Given the description of an element on the screen output the (x, y) to click on. 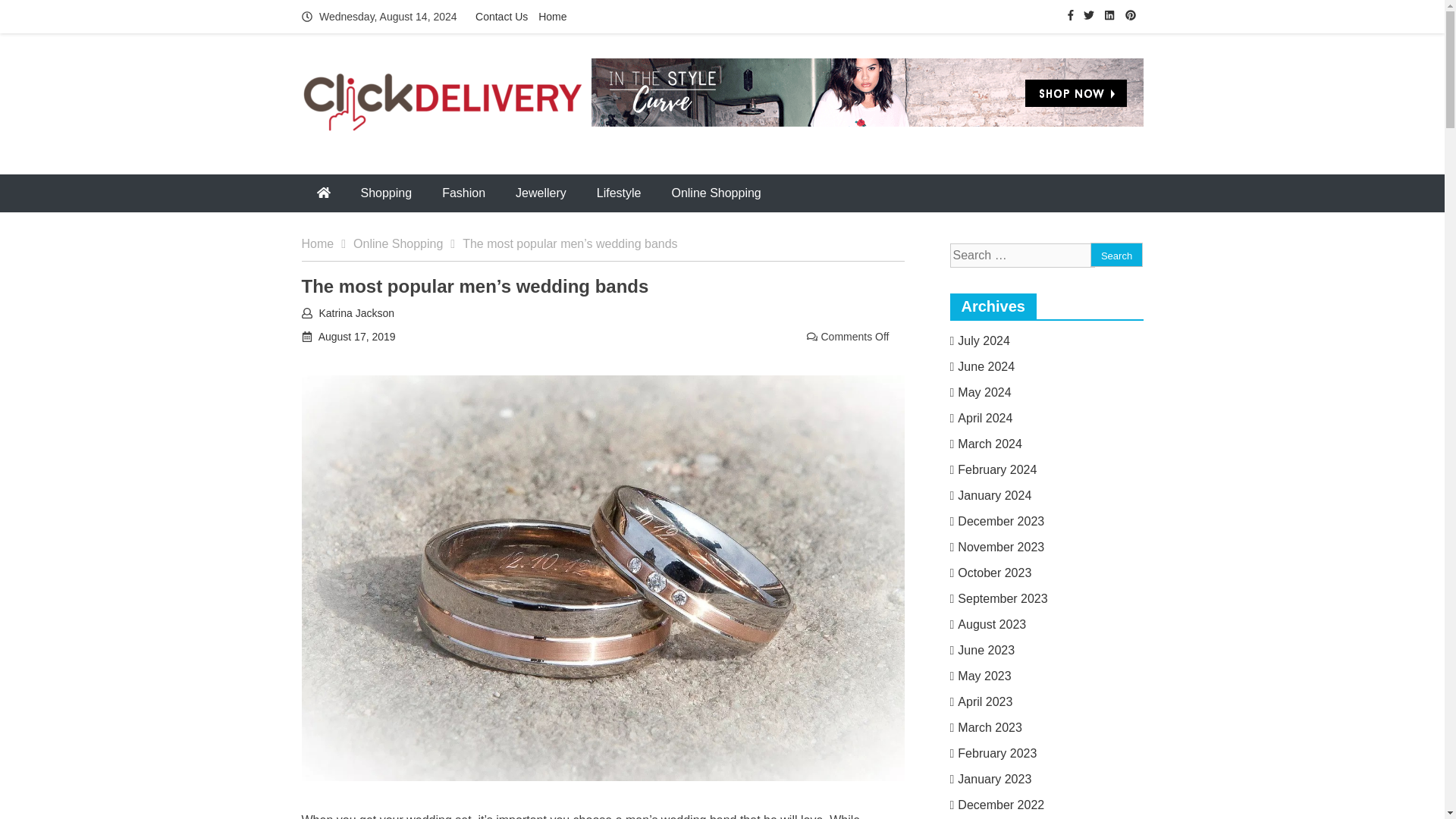
Katrina Jackson (356, 313)
February 2024 (992, 469)
March 2024 (985, 443)
Home (552, 16)
Online Shopping (408, 243)
Shopping (387, 193)
Search (1116, 254)
Contact Us (501, 16)
May 2024 (979, 391)
Fashion (463, 193)
